Given the description of an element on the screen output the (x, y) to click on. 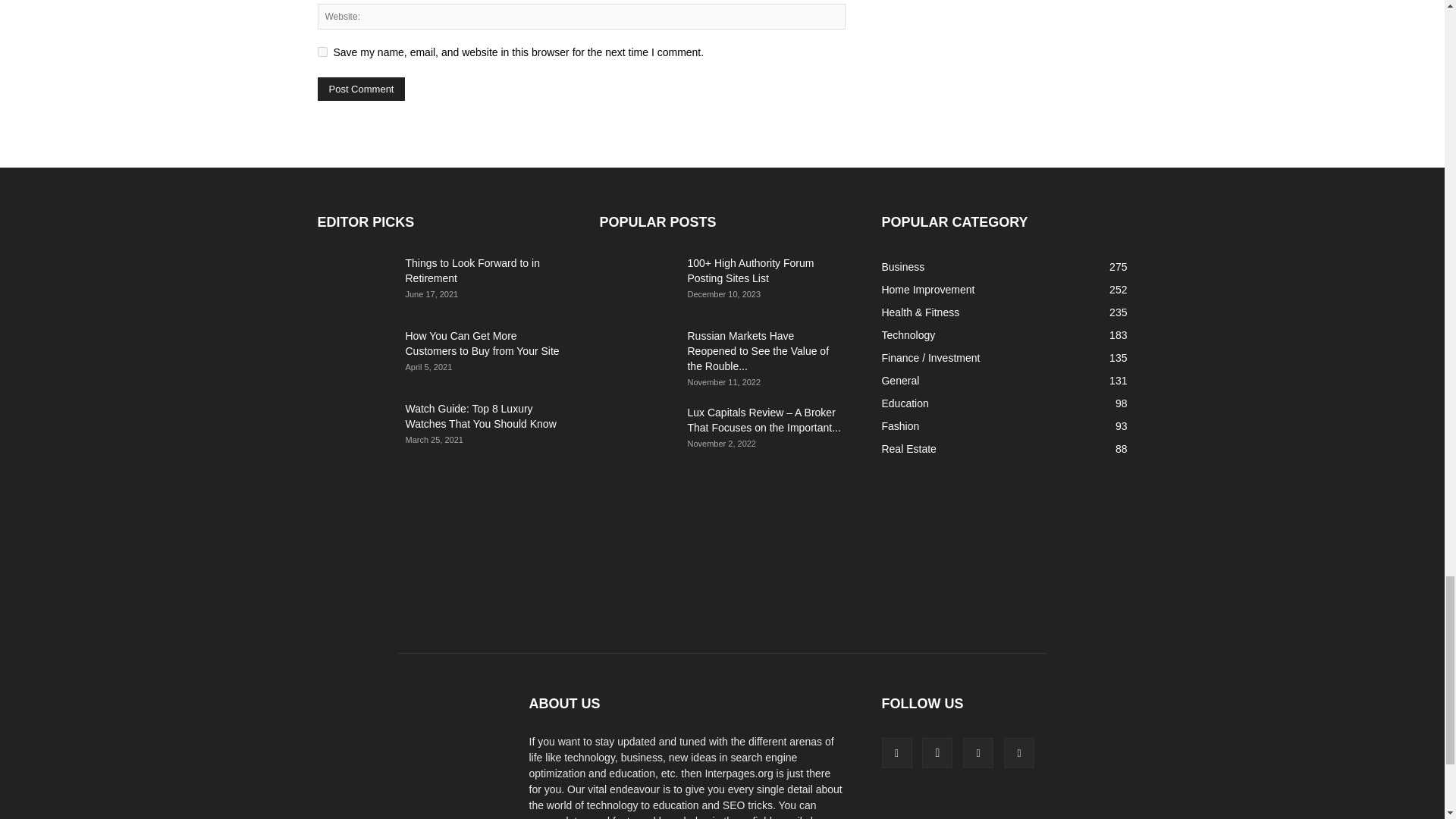
Post Comment (360, 88)
yes (321, 51)
